Given the description of an element on the screen output the (x, y) to click on. 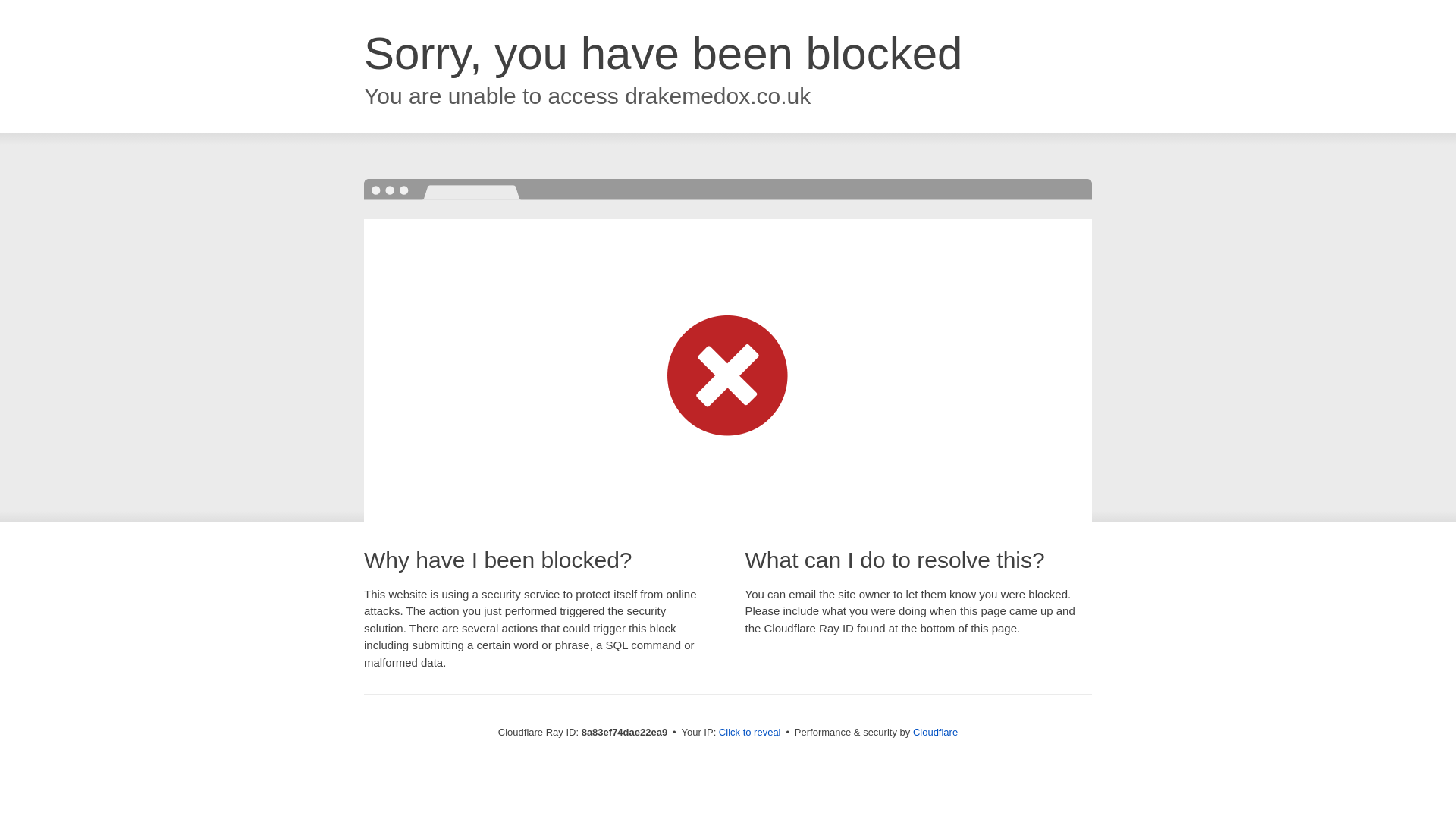
Click to reveal (749, 732)
Cloudflare (935, 731)
